Given the description of an element on the screen output the (x, y) to click on. 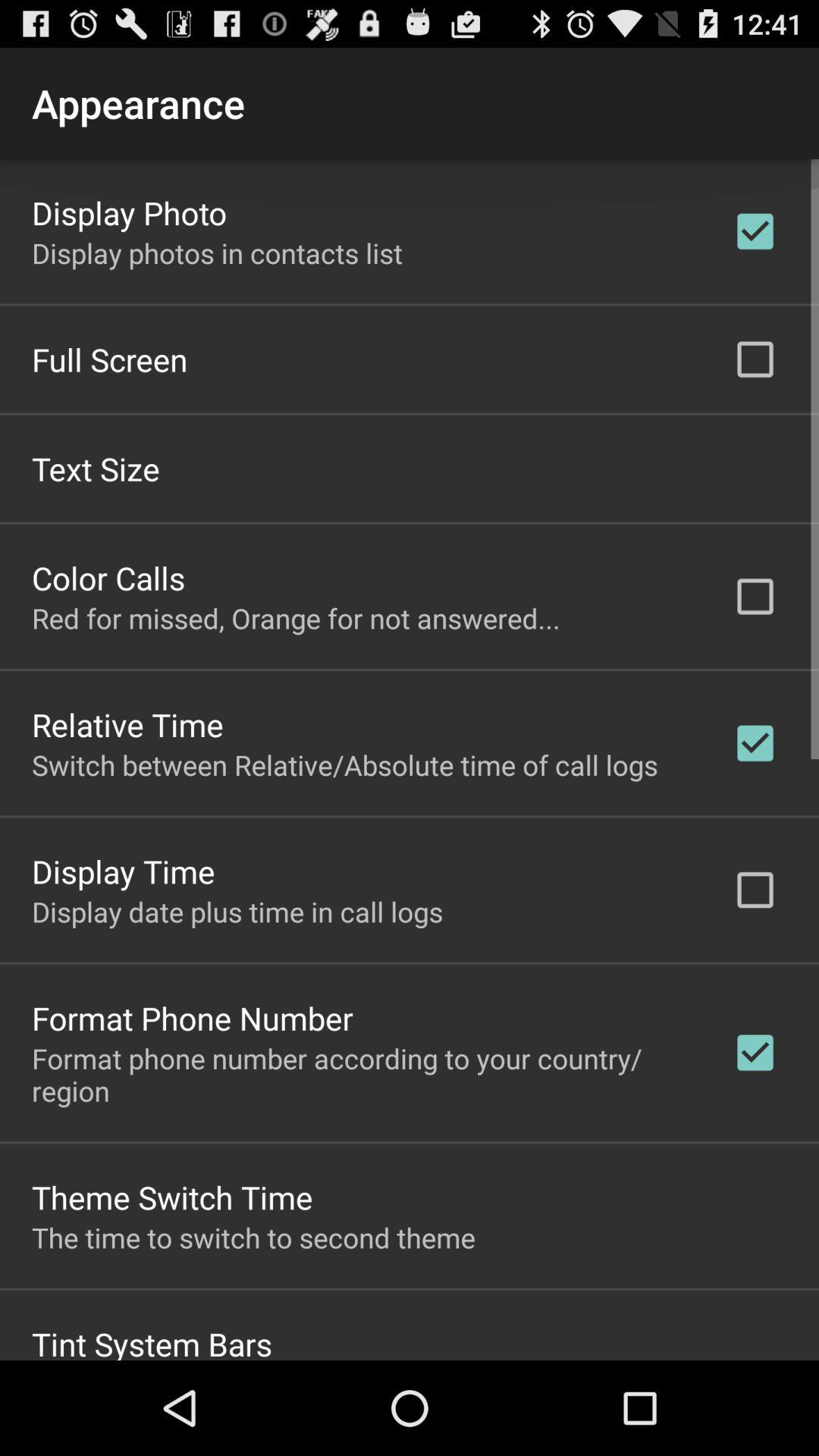
choose app above color calls icon (95, 467)
